Given the description of an element on the screen output the (x, y) to click on. 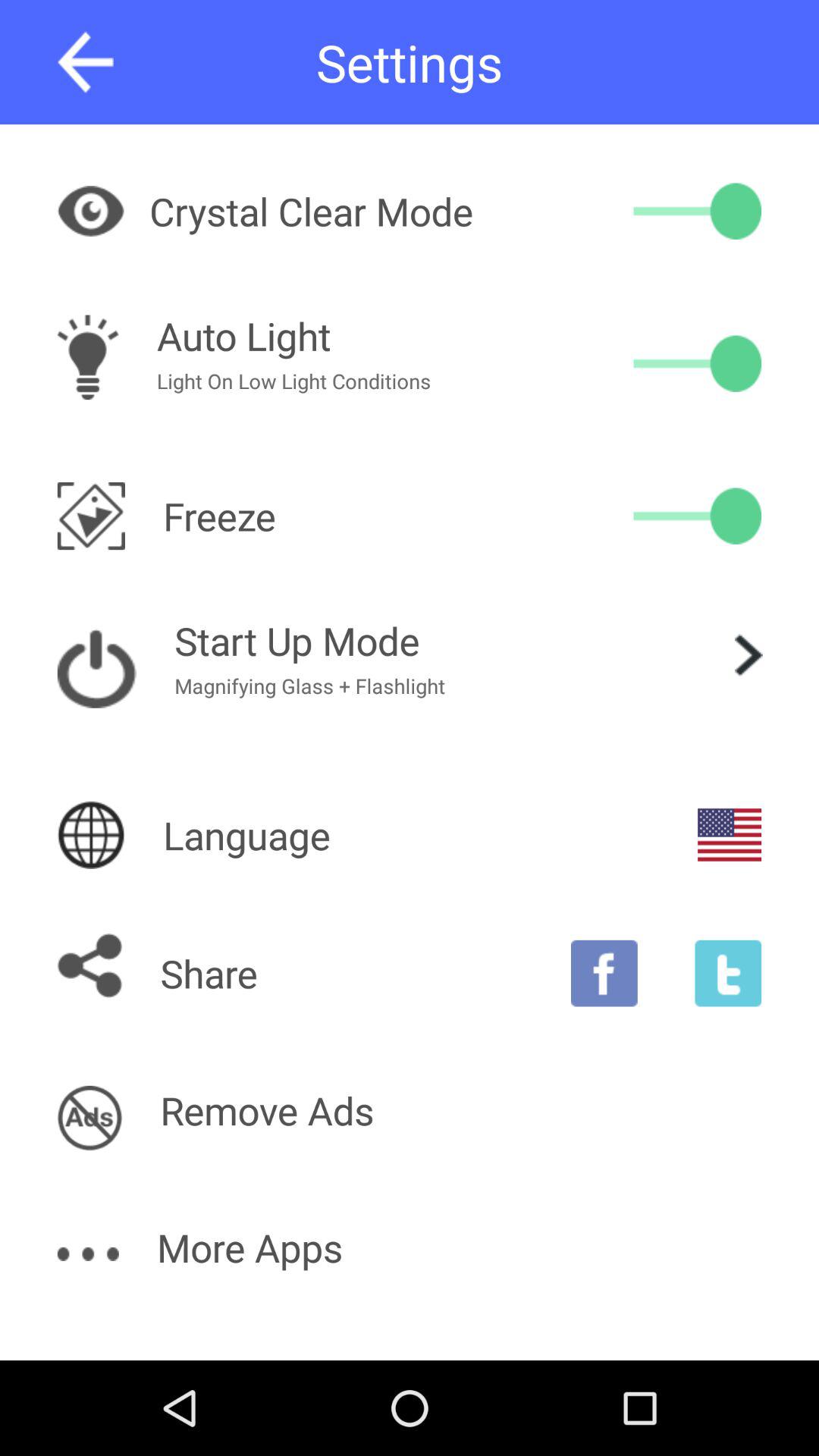
turn on the item to the right of crystal clear mode app (697, 211)
